Given the description of an element on the screen output the (x, y) to click on. 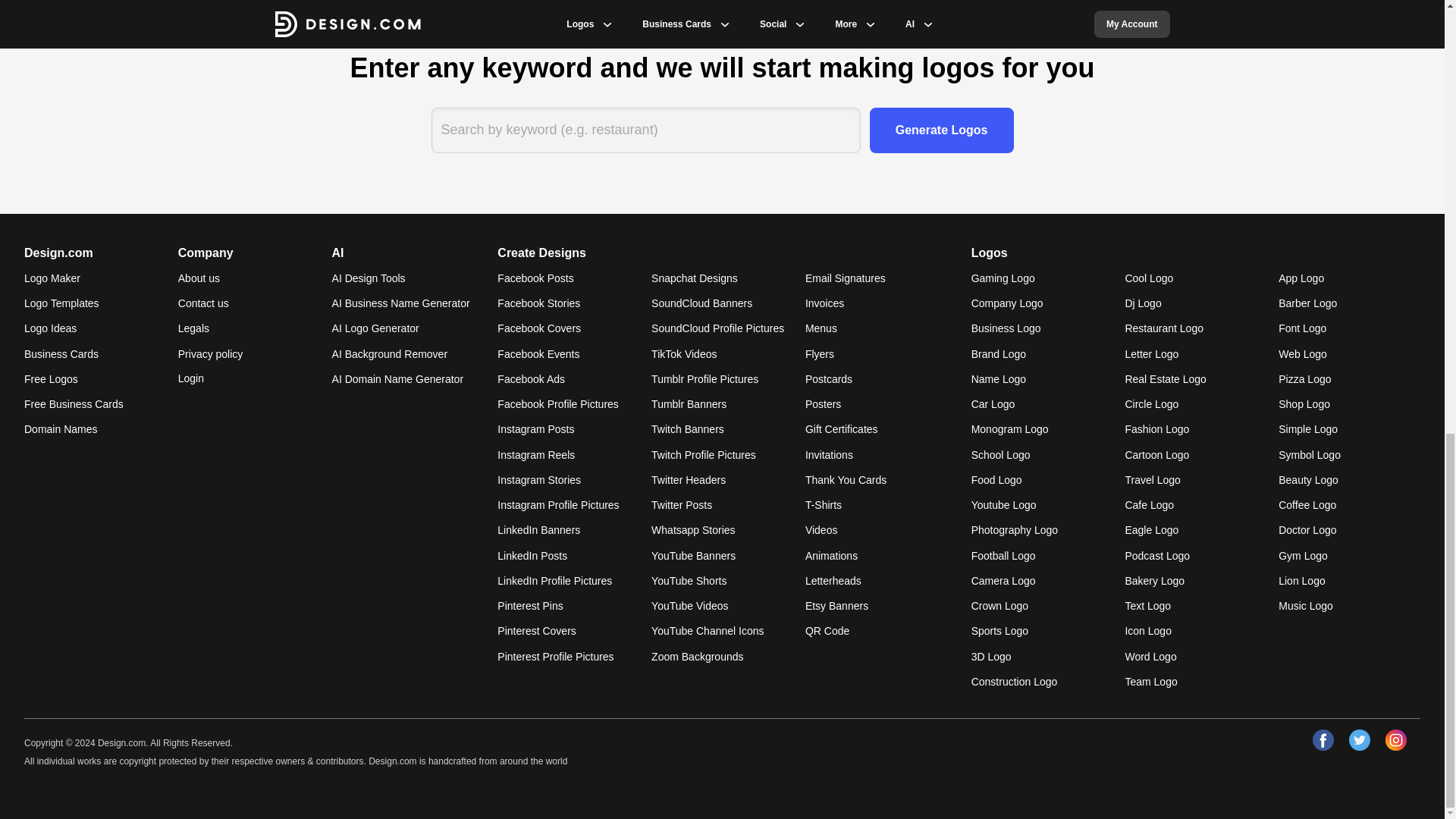
twitter (1359, 740)
facebook (1323, 740)
instagram (1395, 740)
